Given the description of an element on the screen output the (x, y) to click on. 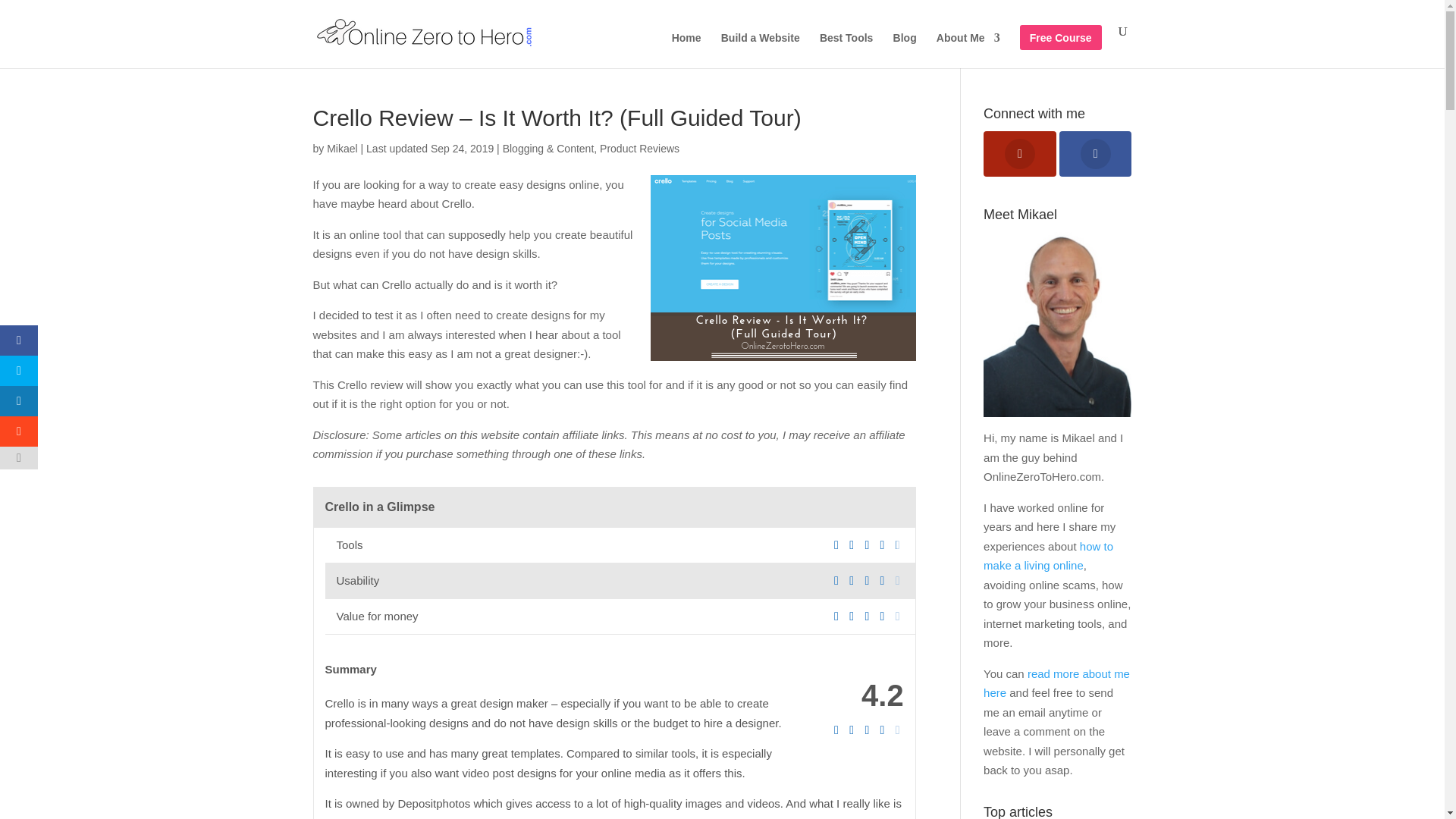
how to make a living online (1048, 555)
Best Tools (846, 49)
Free Course (1060, 49)
Product Reviews (639, 148)
About Me (968, 49)
Mikael (341, 148)
Posts by Mikael (341, 148)
read more about me here (1056, 683)
Build a Website (759, 49)
